Given the description of an element on the screen output the (x, y) to click on. 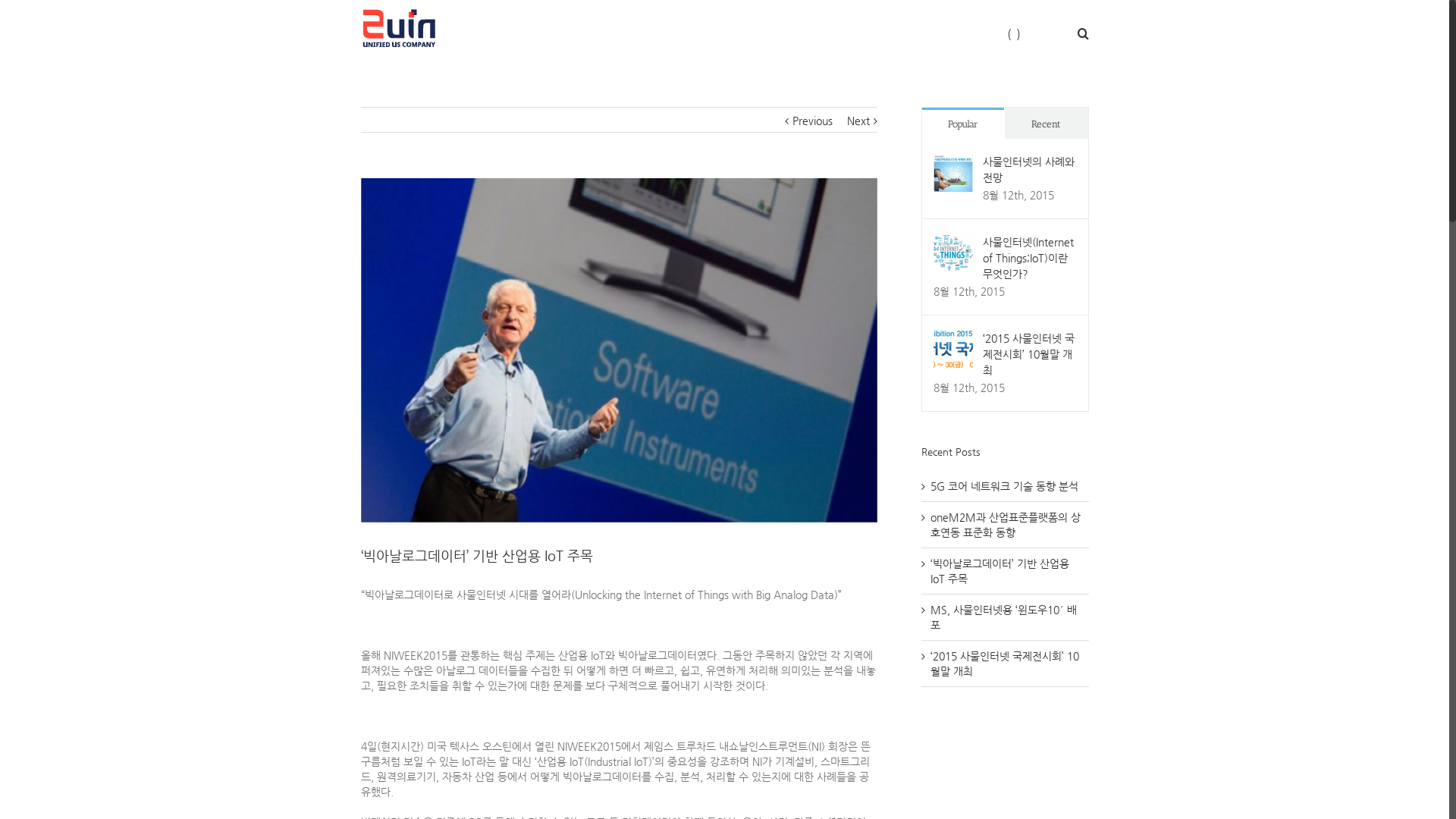
Popular Element type: text (963, 122)
Recent Element type: text (1045, 122)
Previous Element type: text (812, 120)
Next Element type: text (858, 120)
